Given the description of an element on the screen output the (x, y) to click on. 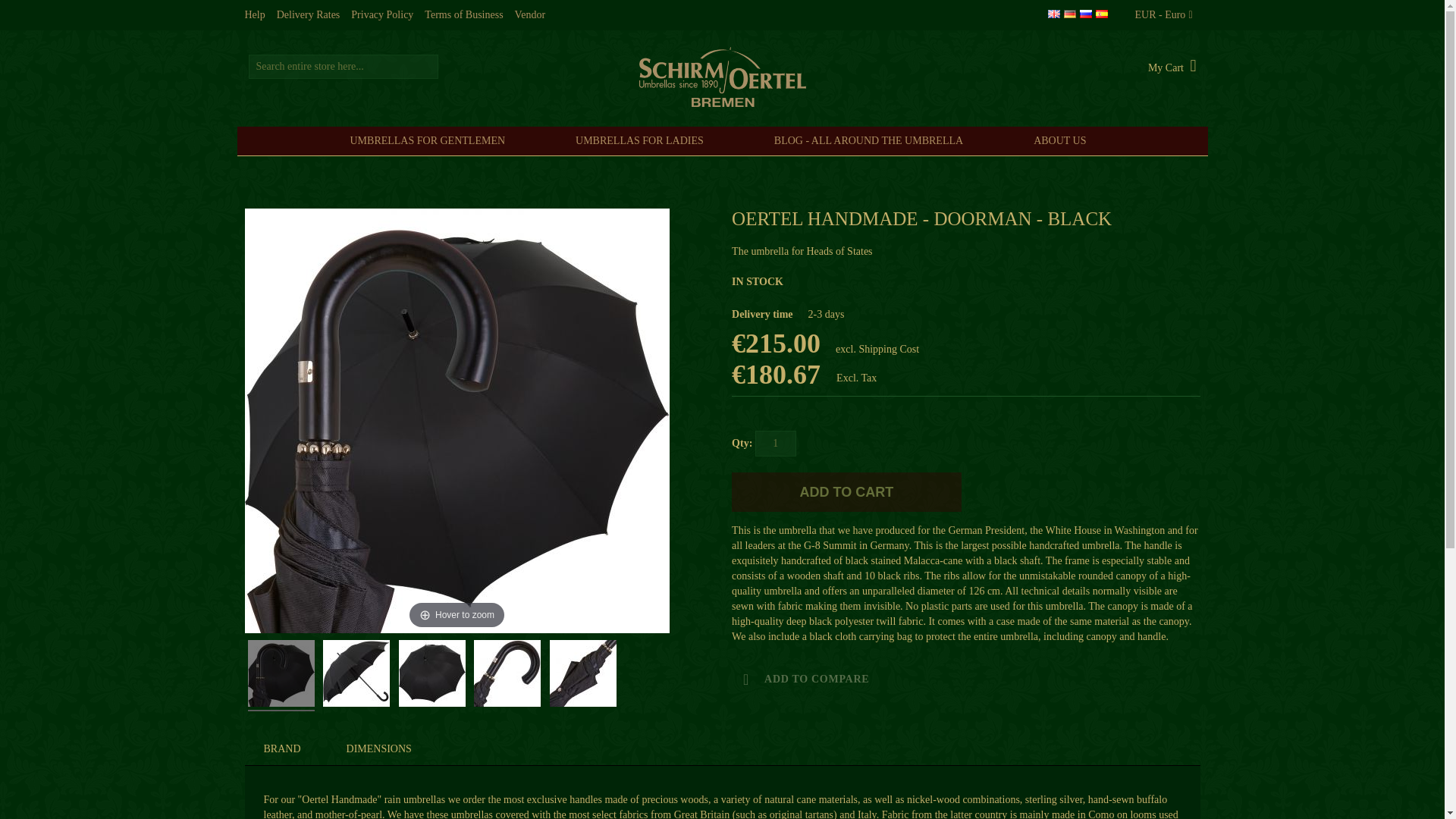
Terms of Business (463, 14)
Add to Cart (846, 491)
Qty (775, 443)
My Cart (1172, 67)
1 (775, 443)
Oertel Handmade umbrella - Doorman - black (581, 675)
BLOG - ALL AROUND THE UMBRELLA (872, 140)
UMBRELLAS FOR LADIES (643, 140)
Delivery Rates (308, 14)
Schirm Oertel - European Umbrellas (722, 76)
